Given the description of an element on the screen output the (x, y) to click on. 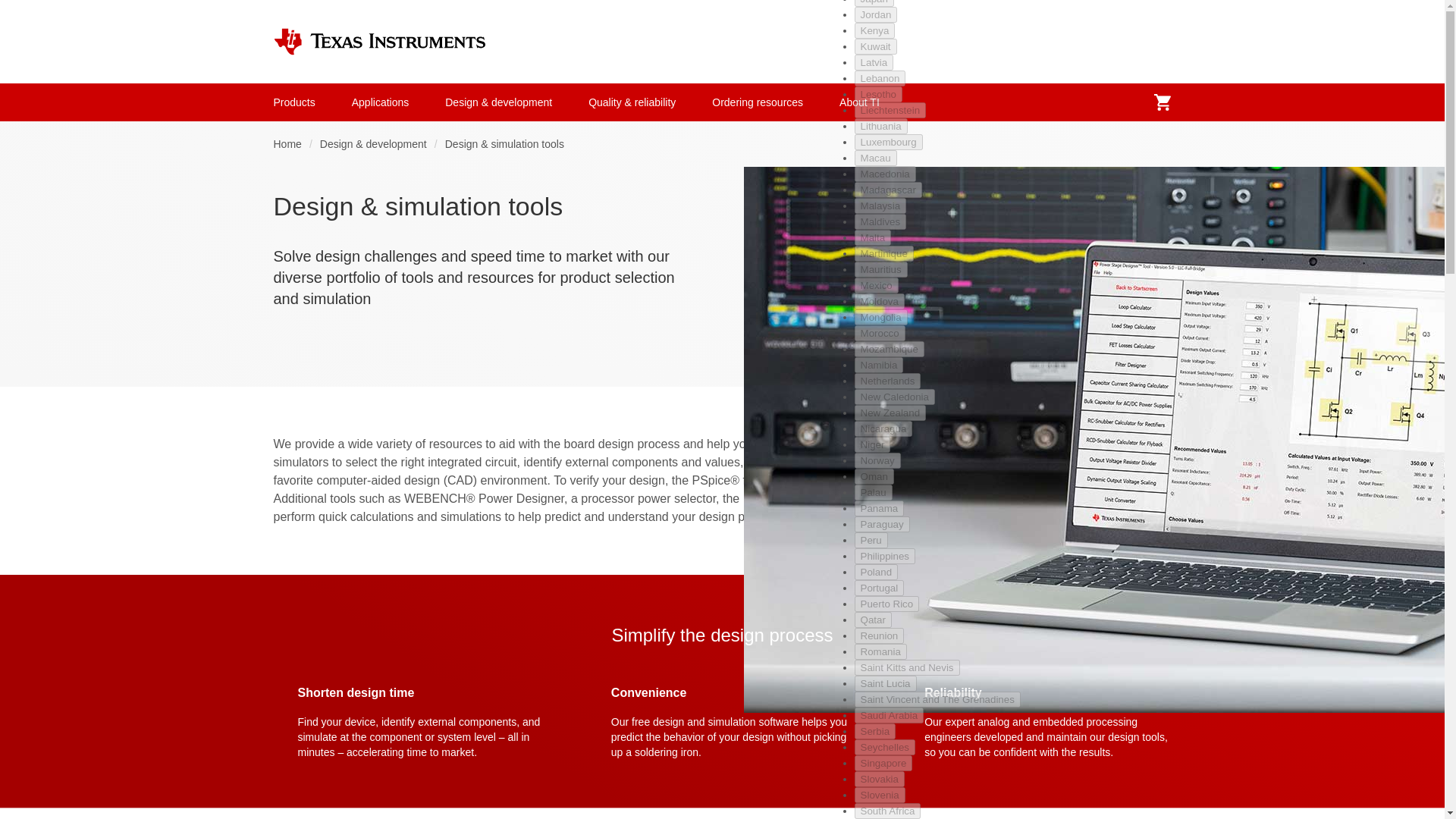
About TI (859, 102)
Ordering resources (757, 102)
Applications (380, 102)
My cart (1161, 102)
Home (287, 143)
Products (293, 102)
